Given the description of an element on the screen output the (x, y) to click on. 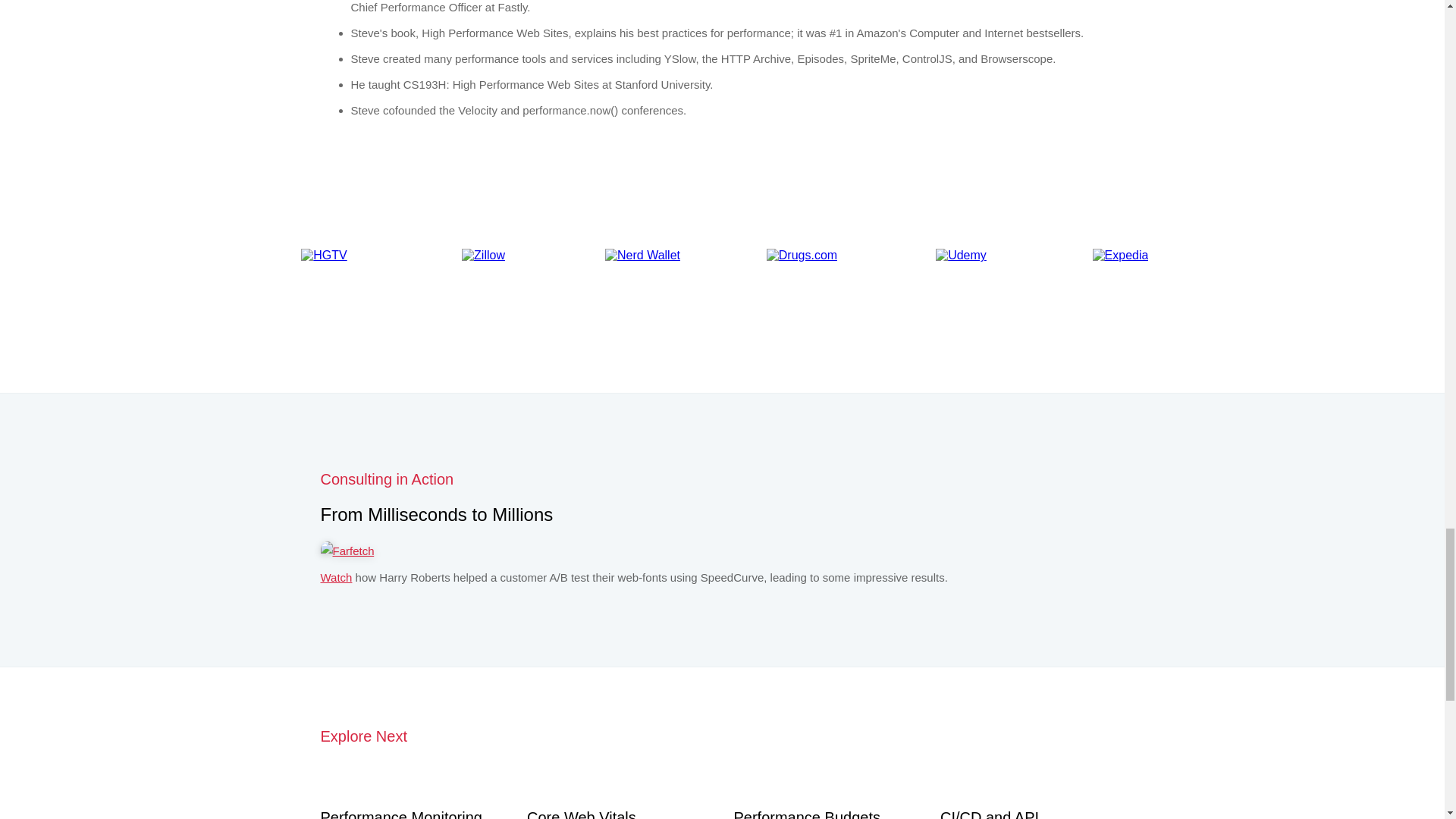
Watch (336, 576)
